Given the description of an element on the screen output the (x, y) to click on. 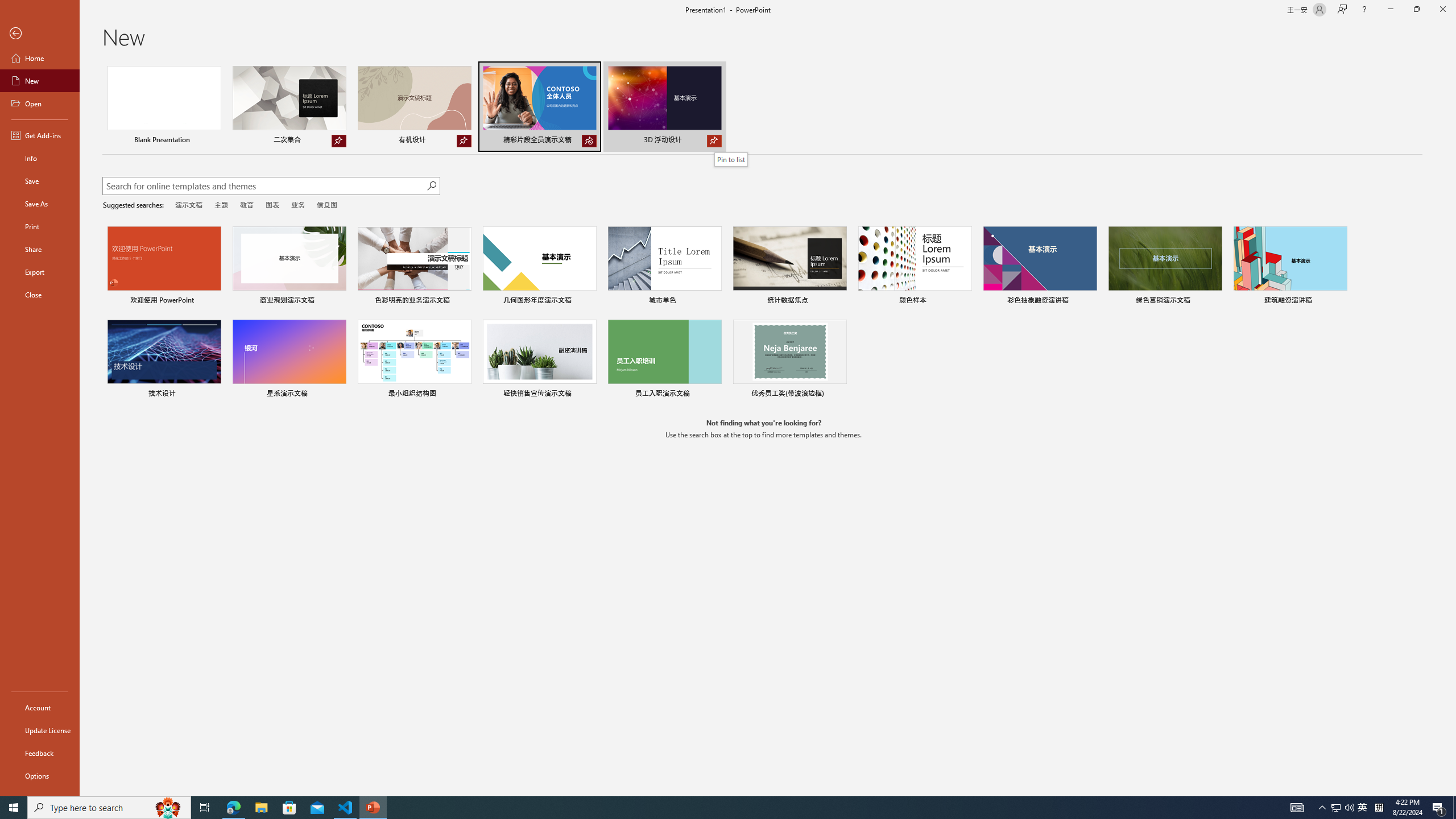
Start searching (431, 185)
Search for online templates and themes (264, 187)
Pin to list (839, 394)
Update License (40, 730)
Feedback (40, 753)
